Given the description of an element on the screen output the (x, y) to click on. 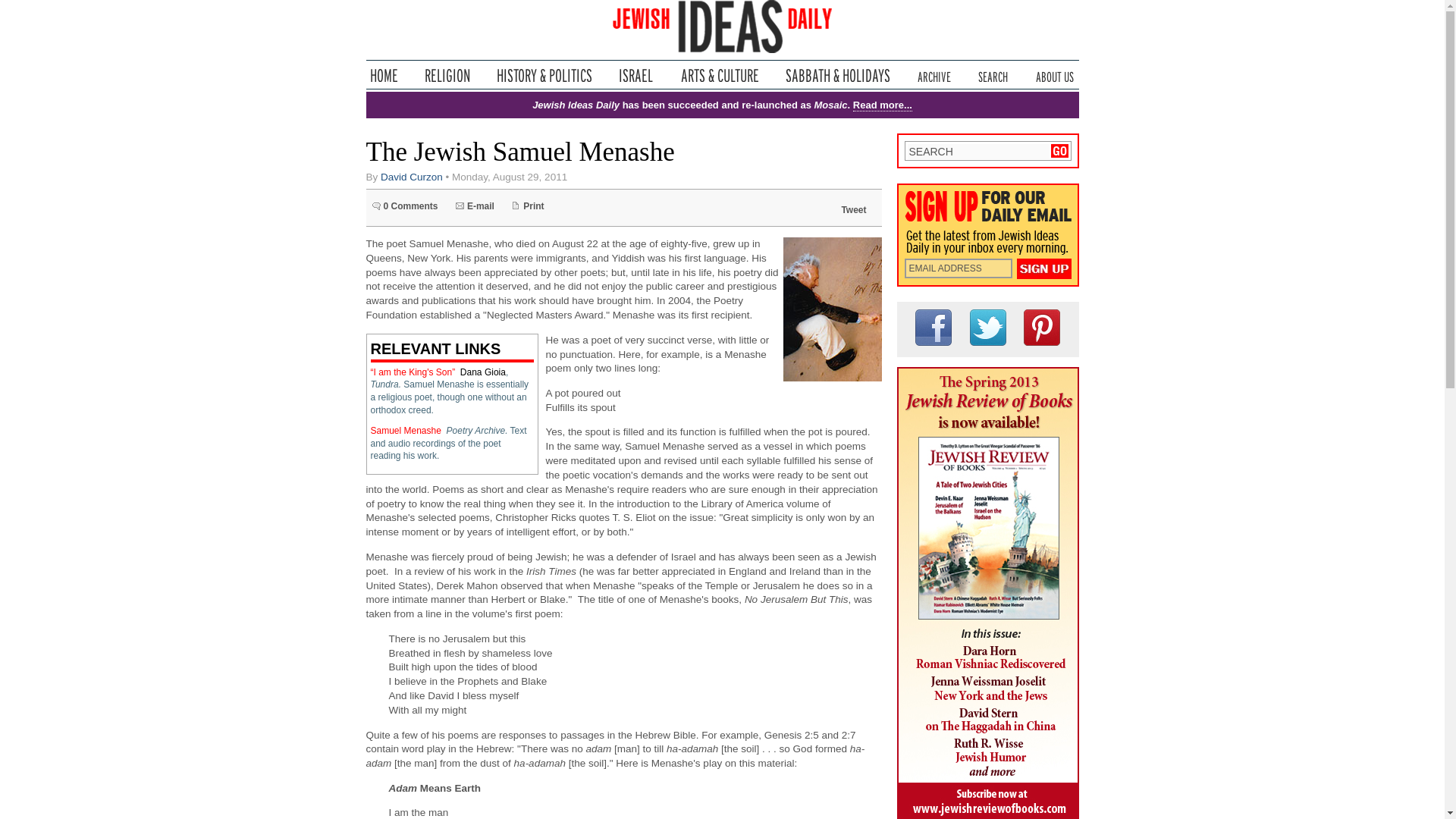
Home (384, 74)
Print (527, 205)
E-mail (475, 205)
Israel (636, 74)
0 Comments (404, 205)
David Curzon (411, 176)
Dana Gioia (482, 371)
Samuel Menashe (405, 430)
Religion (447, 74)
